Given the description of an element on the screen output the (x, y) to click on. 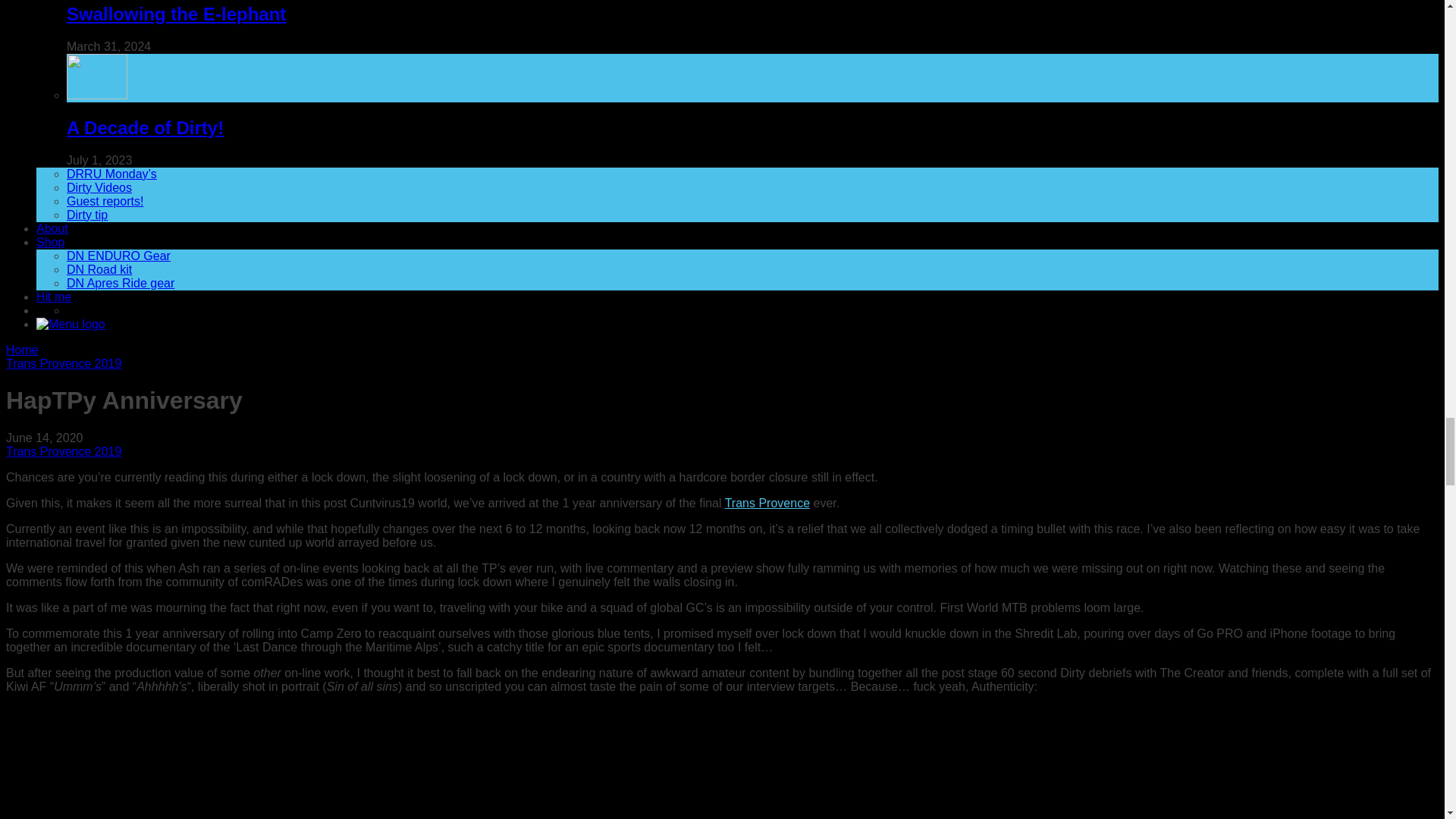
View all posts in Trans Provence 2019 (62, 363)
